Given the description of an element on the screen output the (x, y) to click on. 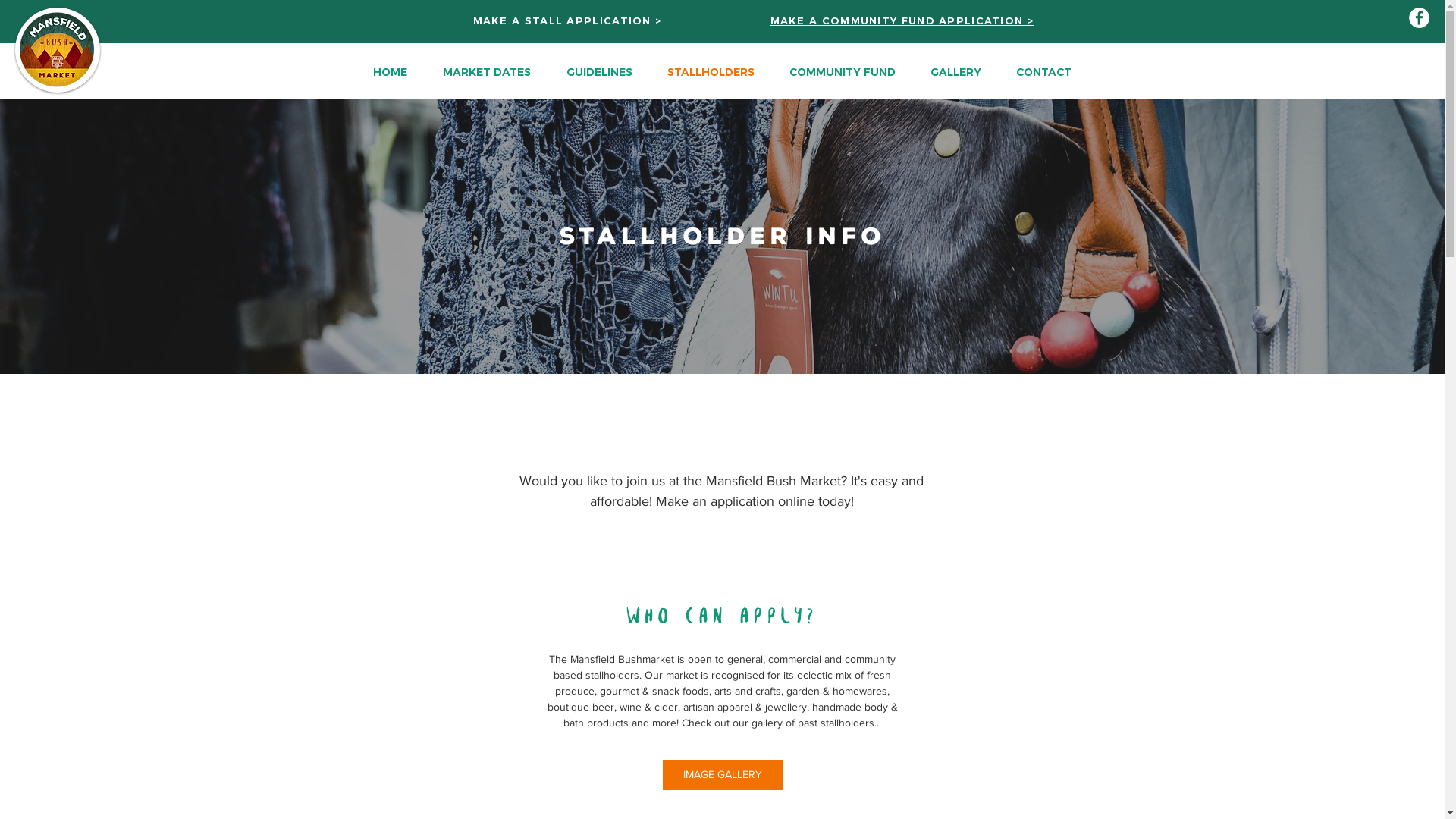
IMAGE GALLERY Element type: text (722, 774)
HOME Element type: text (389, 71)
MARKET DATES Element type: text (486, 71)
CONTACT Element type: text (1042, 71)
GALLERY Element type: text (955, 71)
STALLHOLDERS Element type: text (710, 71)
GUIDELINES Element type: text (599, 71)
COMMUNITY FUND Element type: text (842, 71)
MAKE A COMMUNITY FUND APPLICATION > Element type: text (902, 20)
MAKE A STALL APPLICATION > Element type: text (567, 20)
MBM_Circular_Logo_Mountain_.png Element type: hover (57, 49)
